Given the description of an element on the screen output the (x, y) to click on. 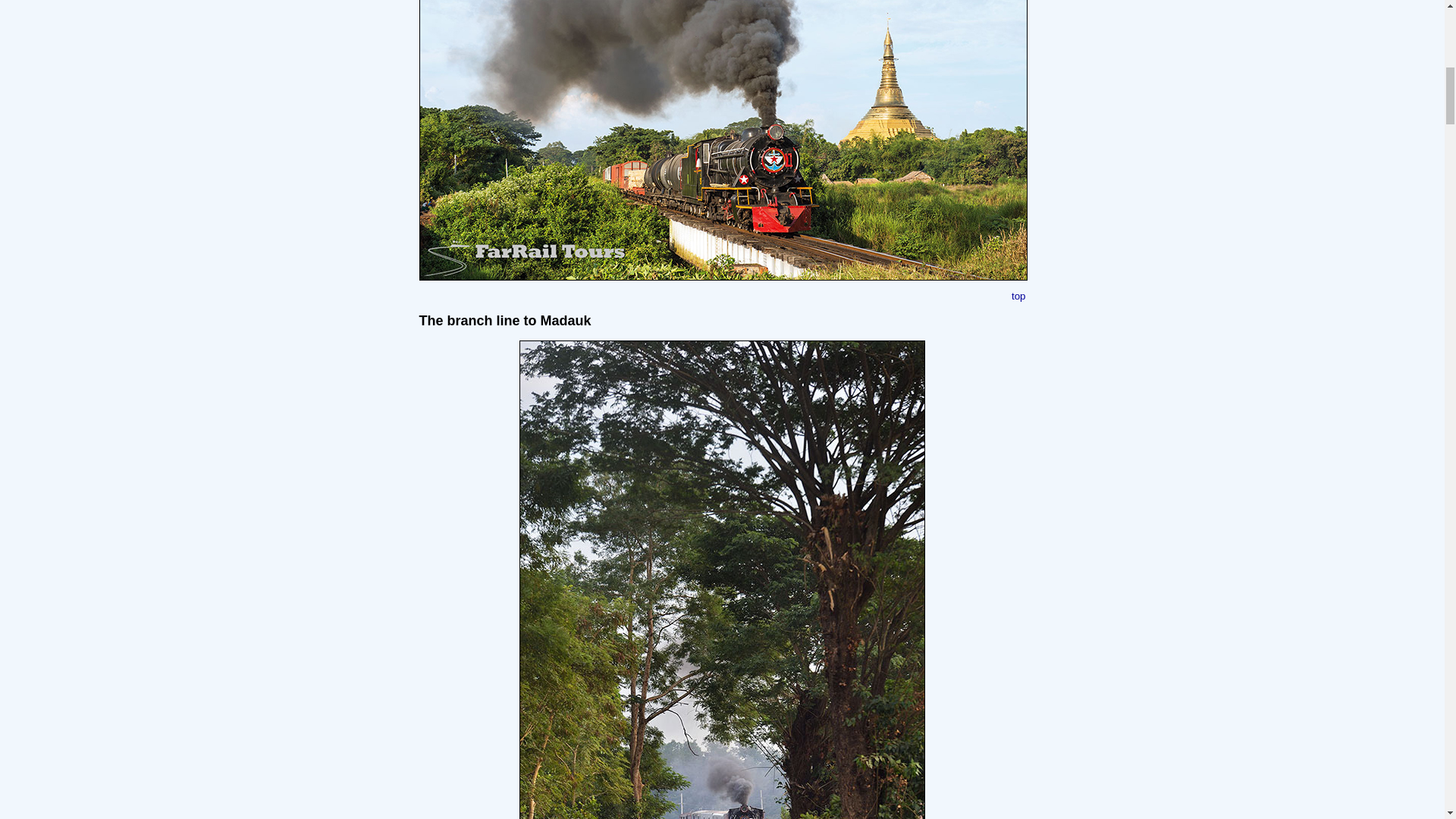
top (1018, 296)
